Given the description of an element on the screen output the (x, y) to click on. 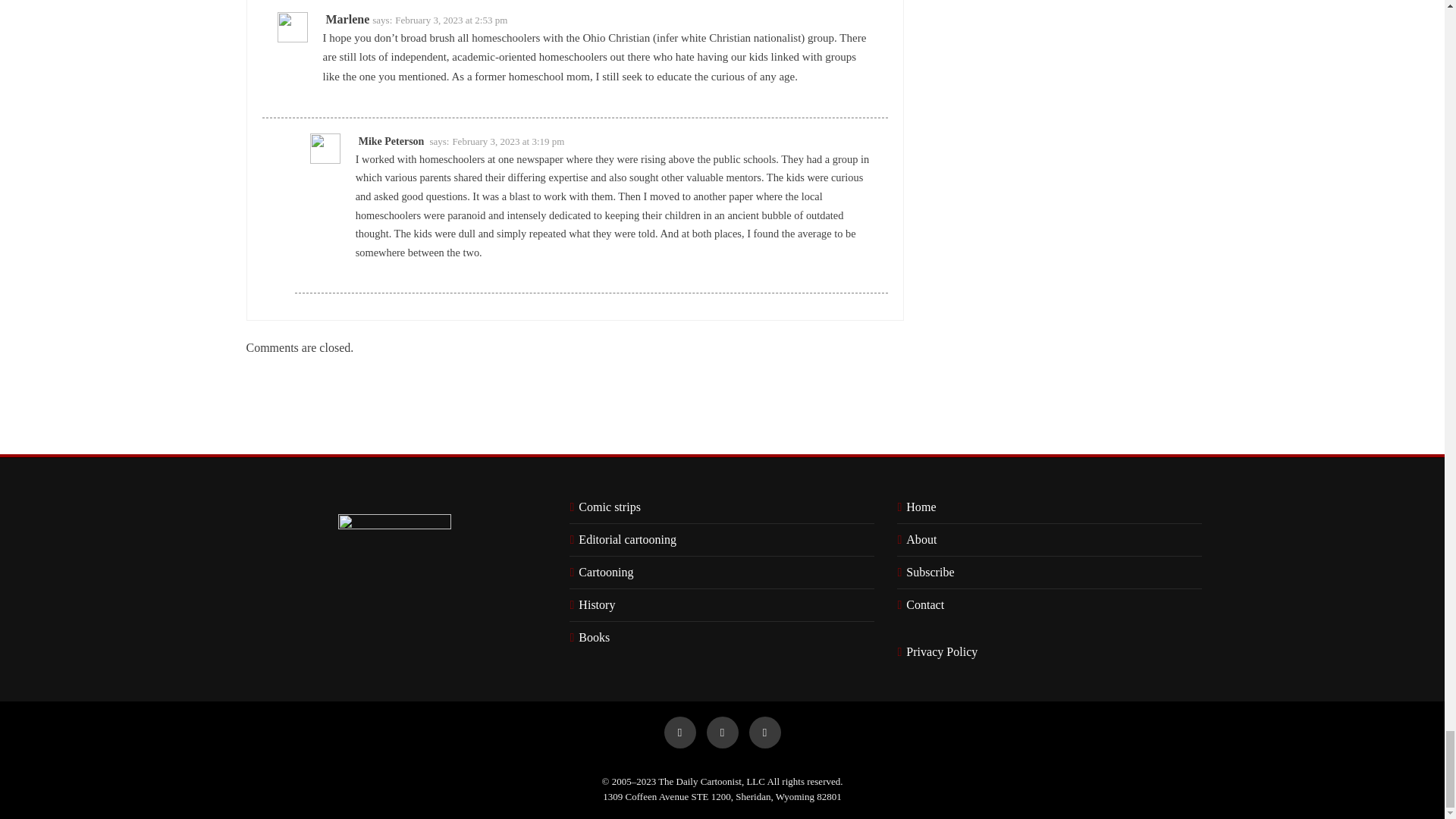
Subscribe to The Daily Cartoonist (927, 571)
